Given the description of an element on the screen output the (x, y) to click on. 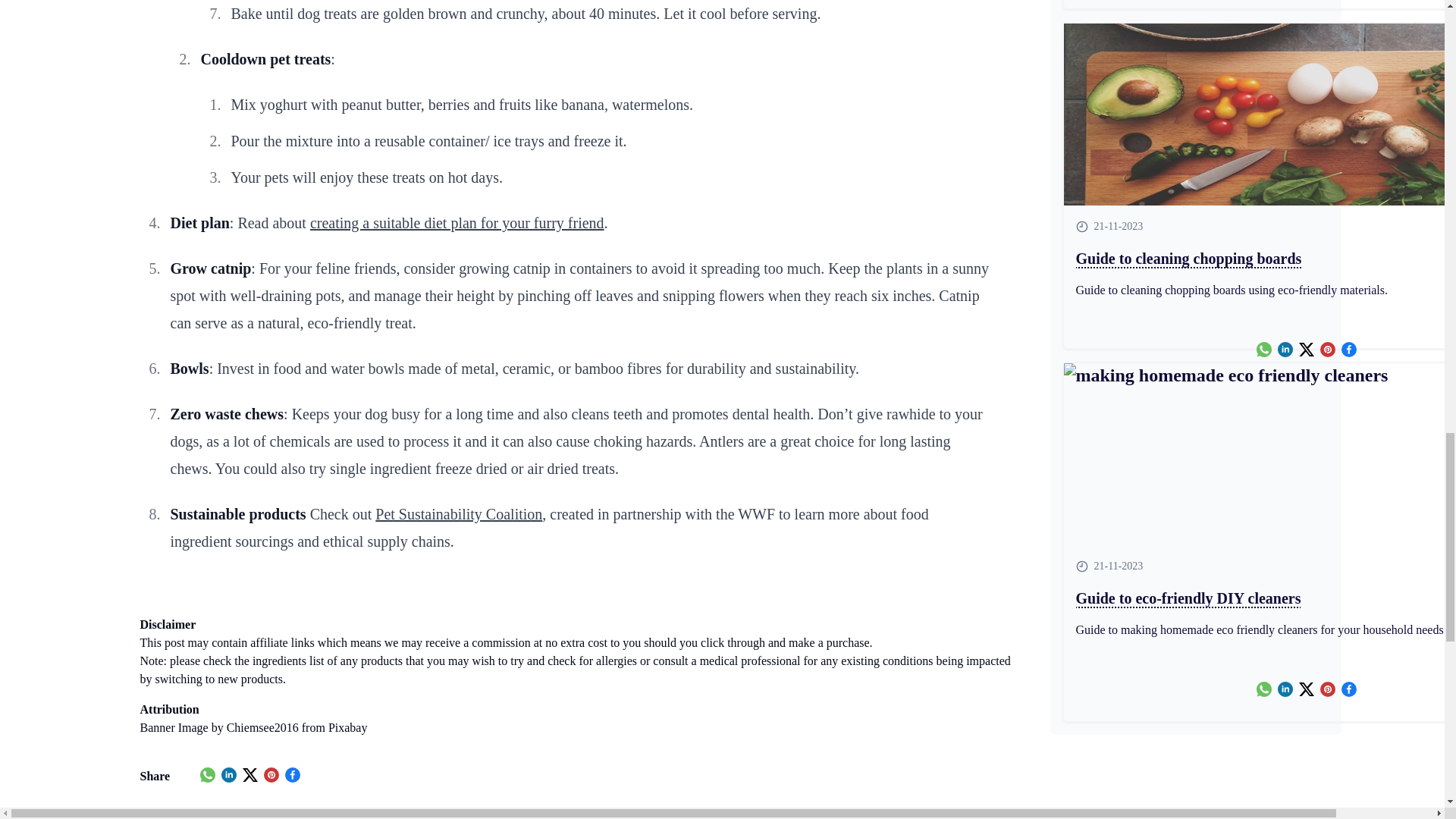
share on Pininterest (271, 774)
share on Whatsapp (207, 774)
Pet Sustainability Coalition (458, 514)
share on X (250, 774)
share on Facebook (292, 774)
share on LinkedIn (228, 774)
Image by Chiemsee2016 from Pixabay (272, 727)
creating a suitable diet plan for your furry friend (457, 222)
